Given the description of an element on the screen output the (x, y) to click on. 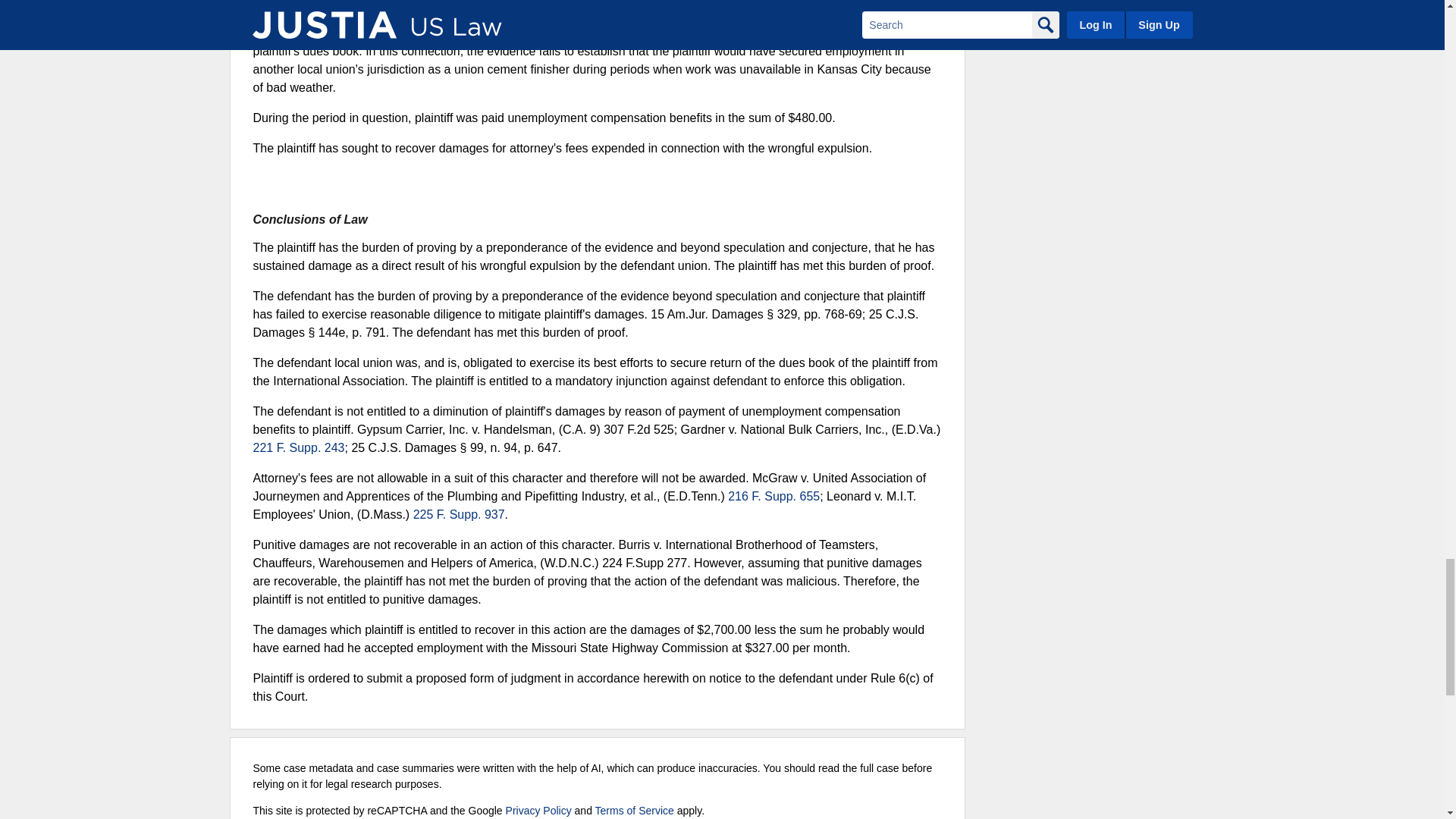
216 F. Supp. 655 (773, 495)
Privacy Policy (538, 810)
Terms of Service (634, 810)
221 F. Supp. 243 (299, 447)
225 F. Supp. 937 (459, 513)
